Given the description of an element on the screen output the (x, y) to click on. 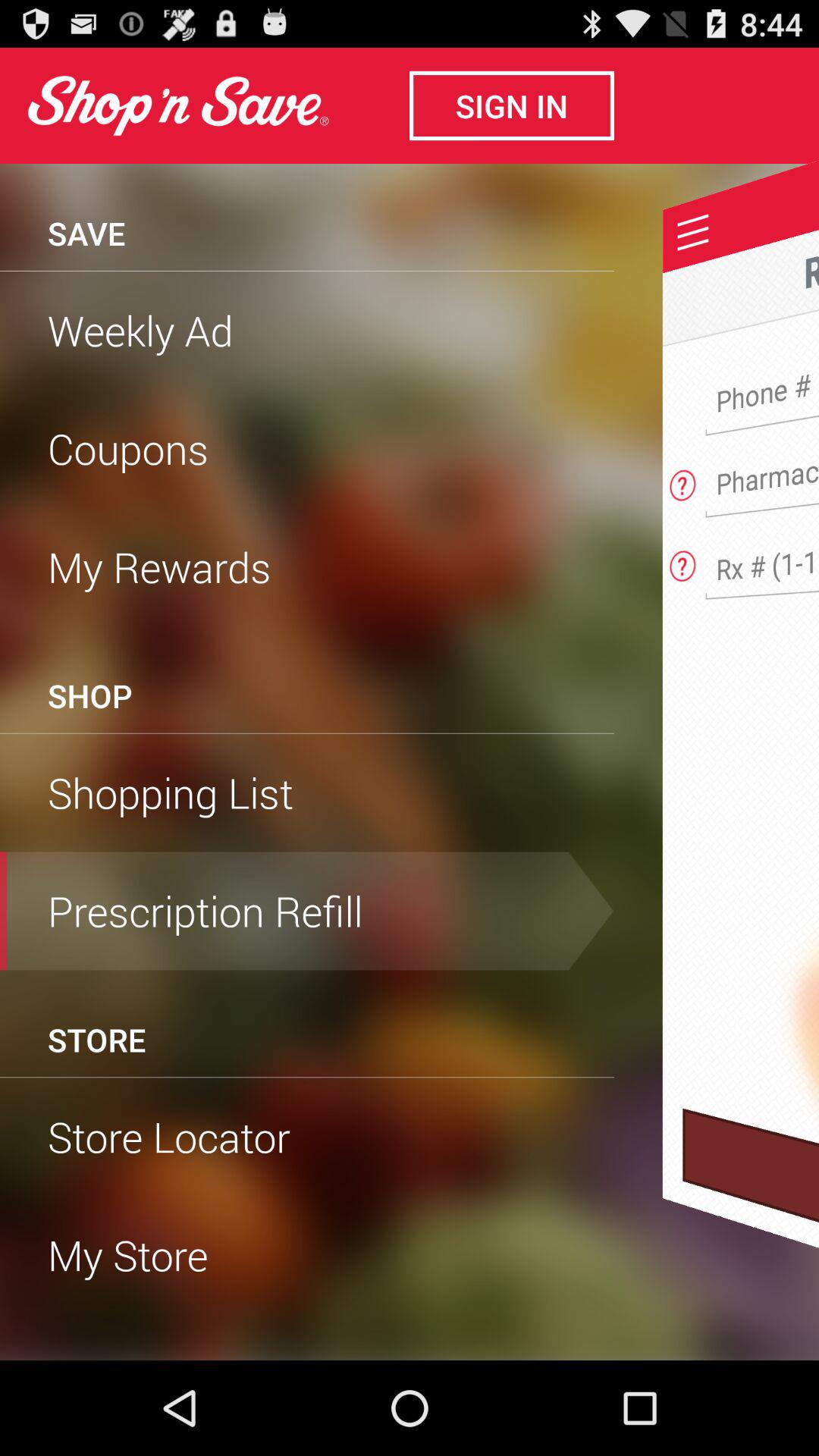
choose item above the save icon (177, 105)
